Given the description of an element on the screen output the (x, y) to click on. 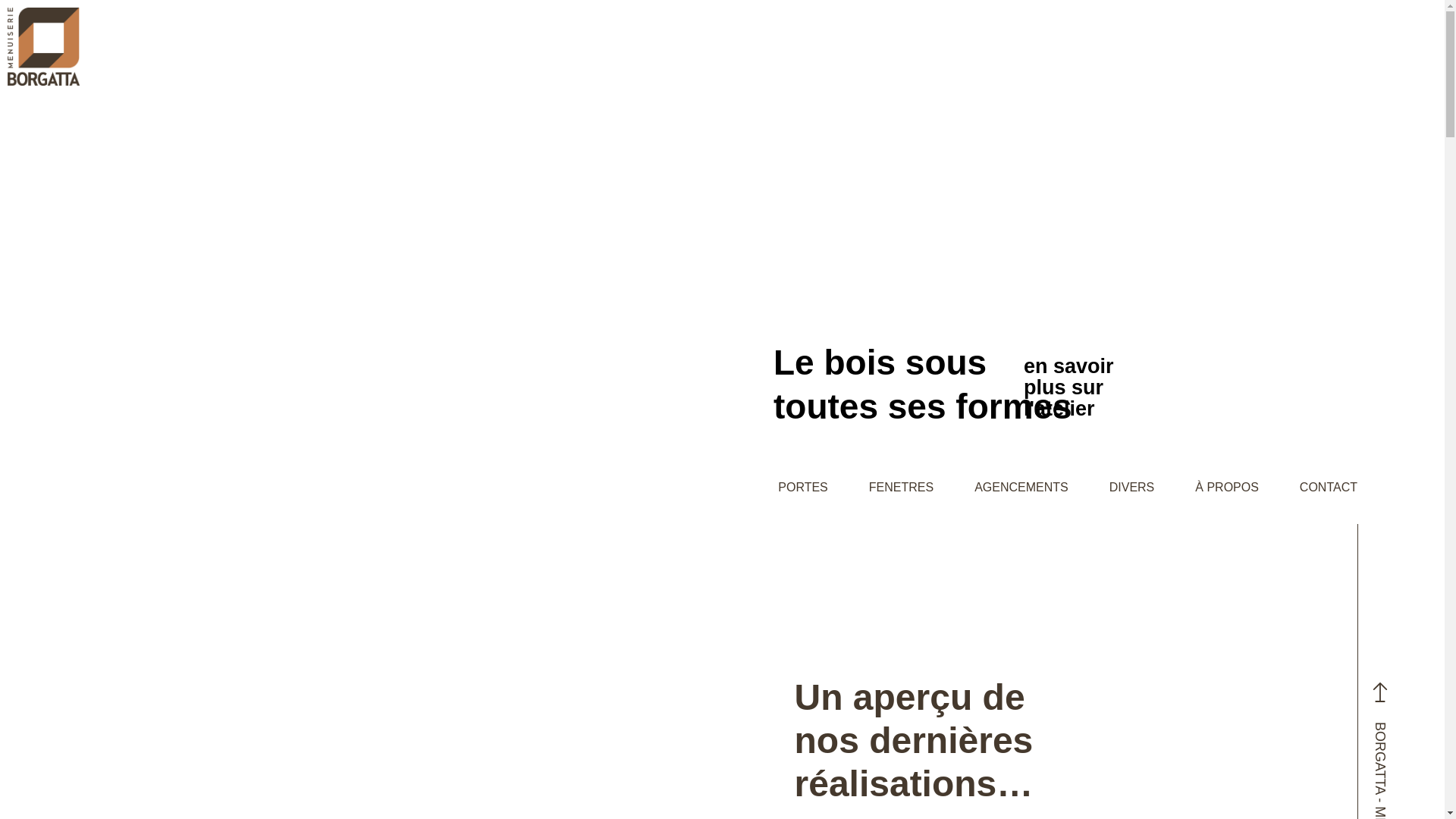
AGENCEMENTS Element type: text (1021, 486)
PORTES Element type: text (803, 486)
FENETRES Element type: text (901, 486)
CONTACT Element type: text (1328, 486)
DIVERS Element type: text (1131, 486)
